Given the description of an element on the screen output the (x, y) to click on. 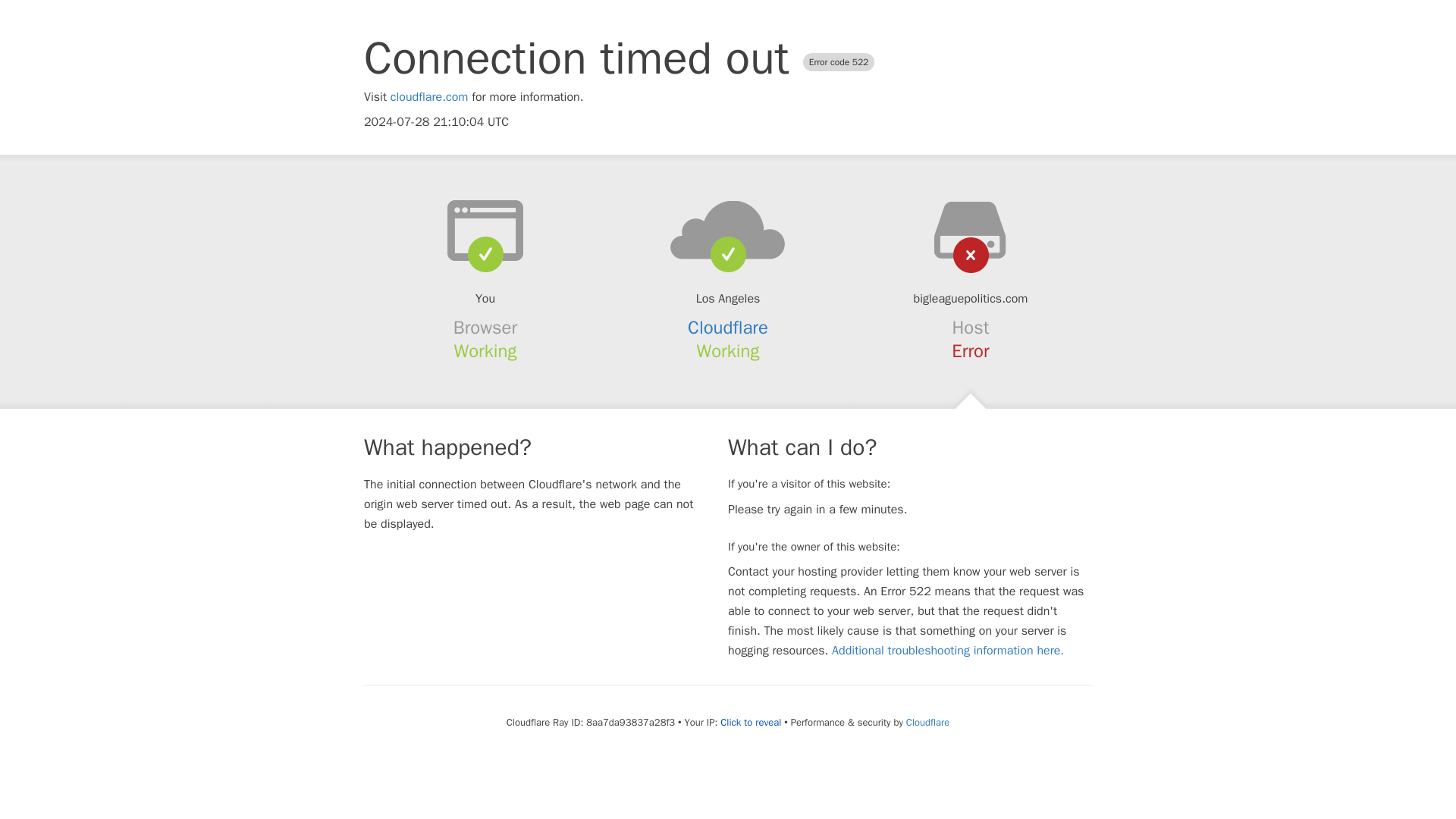
cloudflare.com (429, 96)
Cloudflare (927, 721)
Additional troubleshooting information here. (947, 650)
Cloudflare (727, 327)
Click to reveal (750, 722)
